Given the description of an element on the screen output the (x, y) to click on. 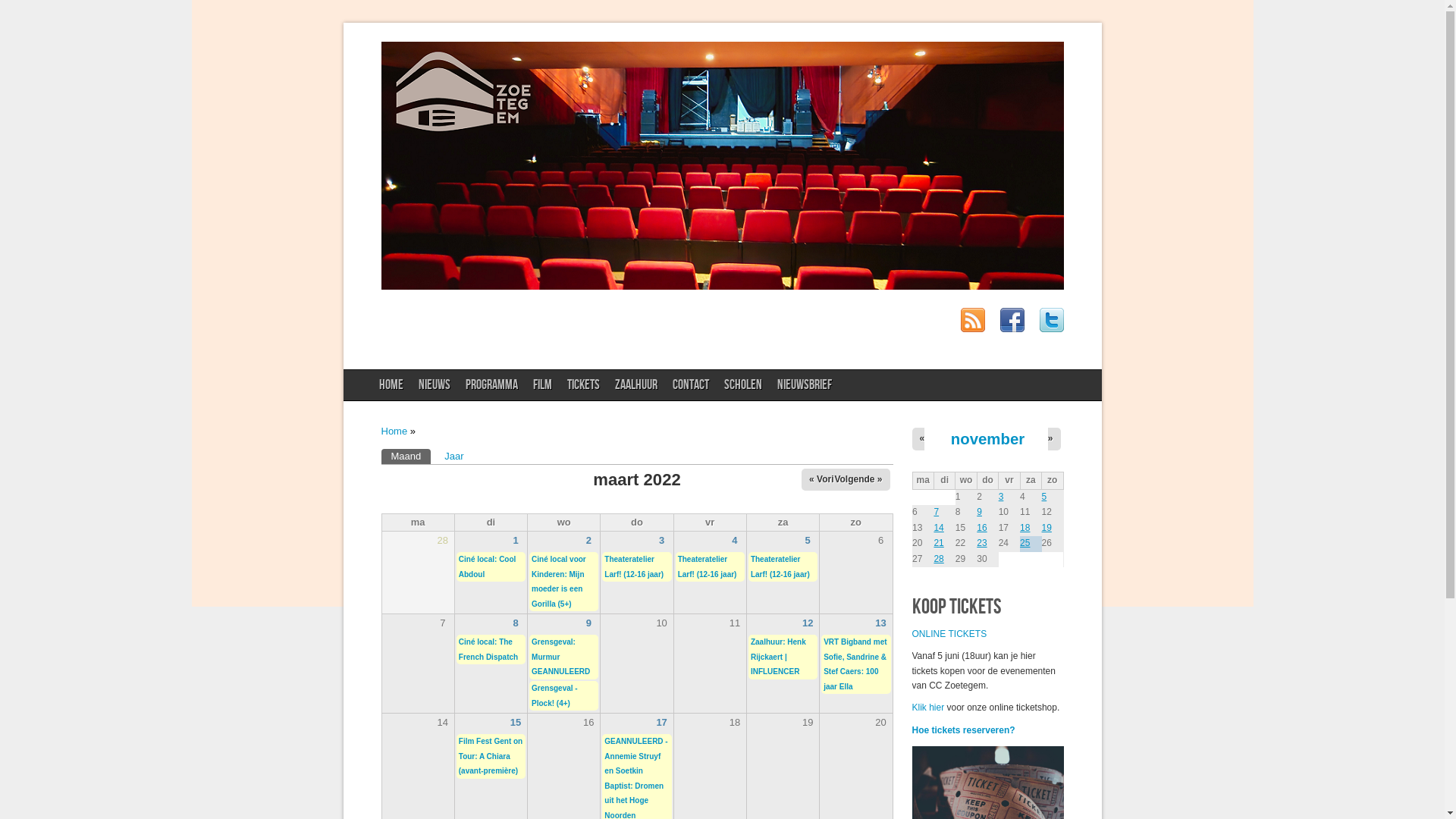
Theateratelier Larf! (12-16 jaar) Element type: text (779, 566)
Theateratelier Larf! (12-16 jaar) Element type: text (707, 566)
Jaar Element type: text (453, 456)
1 Element type: text (514, 540)
NIEUWS Element type: text (434, 385)
3 Element type: text (661, 540)
16 Element type: text (981, 526)
CONTACT Element type: text (690, 385)
Home Element type: hover (721, 285)
ZAALHUUR Element type: text (636, 385)
23 Element type: text (981, 542)
HOME Element type: text (391, 385)
19 Element type: text (1046, 526)
Zaalhuur: Henk Rijckaert | INFLUENCER Element type: text (778, 656)
4 Element type: text (734, 540)
25 Element type: text (1024, 542)
3 Element type: text (1001, 496)
VRT Bigband met Sofie, Sandrine & Stef Caers: 100 jaar Ella Element type: text (854, 663)
Theateratelier Larf! (12-16 jaar) Element type: text (633, 566)
Home Element type: text (393, 430)
8 Element type: text (514, 622)
NIEUWSBRIEF Element type: text (804, 385)
Hoe tickets reserveren? Element type: text (962, 729)
Klik hier Element type: text (927, 707)
SCHOLEN Element type: text (742, 385)
5 Element type: text (1044, 496)
28 Element type: text (938, 558)
PROGRAMMA Element type: text (491, 385)
15 Element type: text (515, 722)
5 Element type: text (807, 540)
Maand
(actieve tabblad) Element type: text (405, 456)
Grensgeval: Murmur GEANNULEERD Element type: text (560, 656)
S Element type: text (983, 633)
21 Element type: text (938, 542)
17 Element type: text (660, 722)
2 Element type: text (588, 540)
18 Element type: text (1024, 526)
9 Element type: text (588, 622)
14 Element type: text (938, 526)
TICKETS Element type: text (583, 385)
12 Element type: text (807, 622)
9 Element type: text (979, 511)
13 Element type: text (880, 622)
november Element type: text (987, 438)
FILM Element type: text (542, 385)
 voor onze online ticketshop. Element type: text (1001, 707)
ONLINE TICKET Element type: text (945, 633)
7 Element type: text (935, 511)
Grensgeval - Plock! (4+) Element type: text (554, 695)
